Given the description of an element on the screen output the (x, y) to click on. 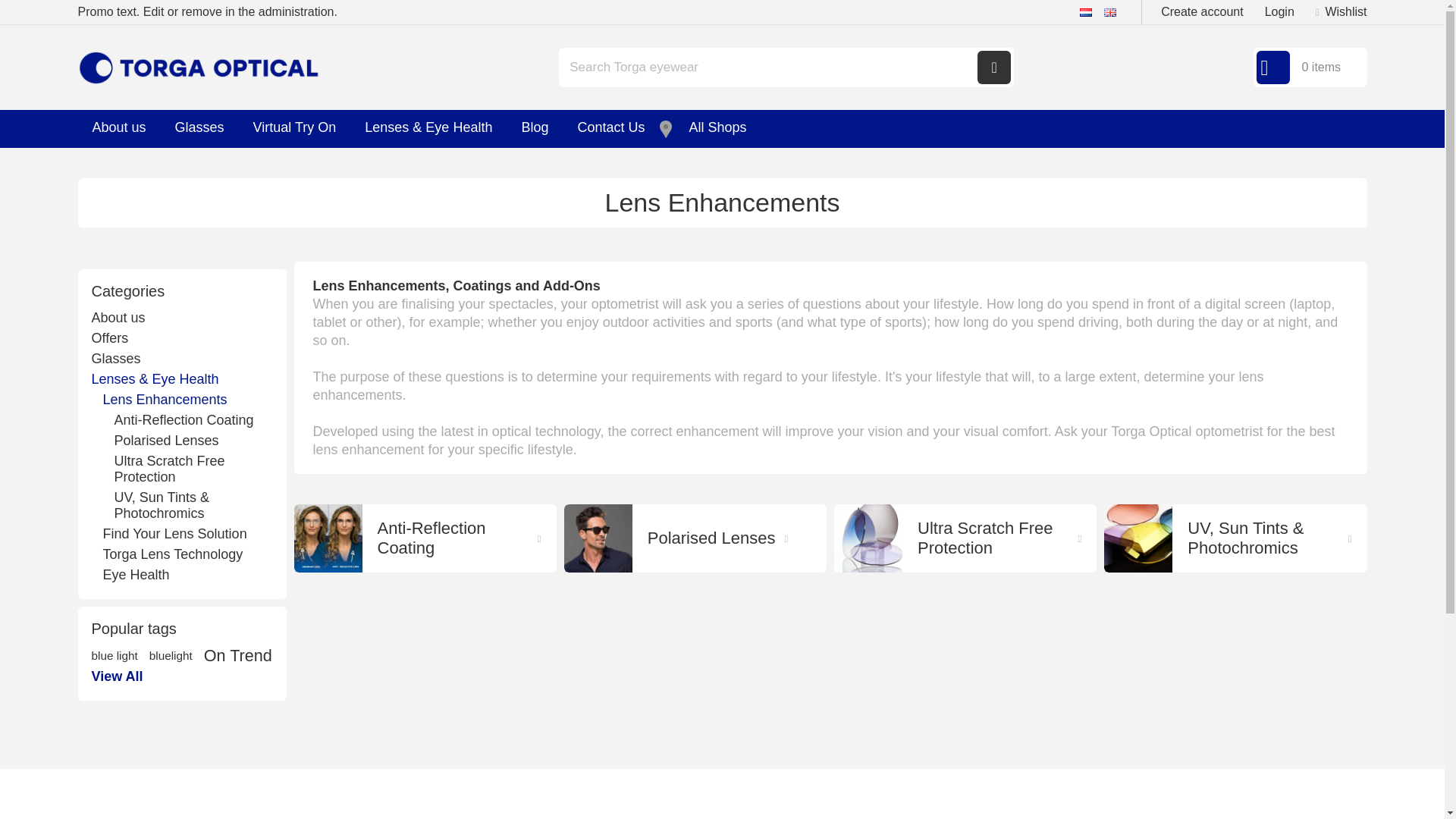
Virtual Try On (294, 128)
Create account (1201, 11)
Glasses (199, 128)
Dutch (1085, 12)
Dutch (1086, 11)
0 items (1309, 66)
SEARCH (993, 67)
About us (118, 128)
About us (118, 128)
Login (1279, 11)
